Given the description of an element on the screen output the (x, y) to click on. 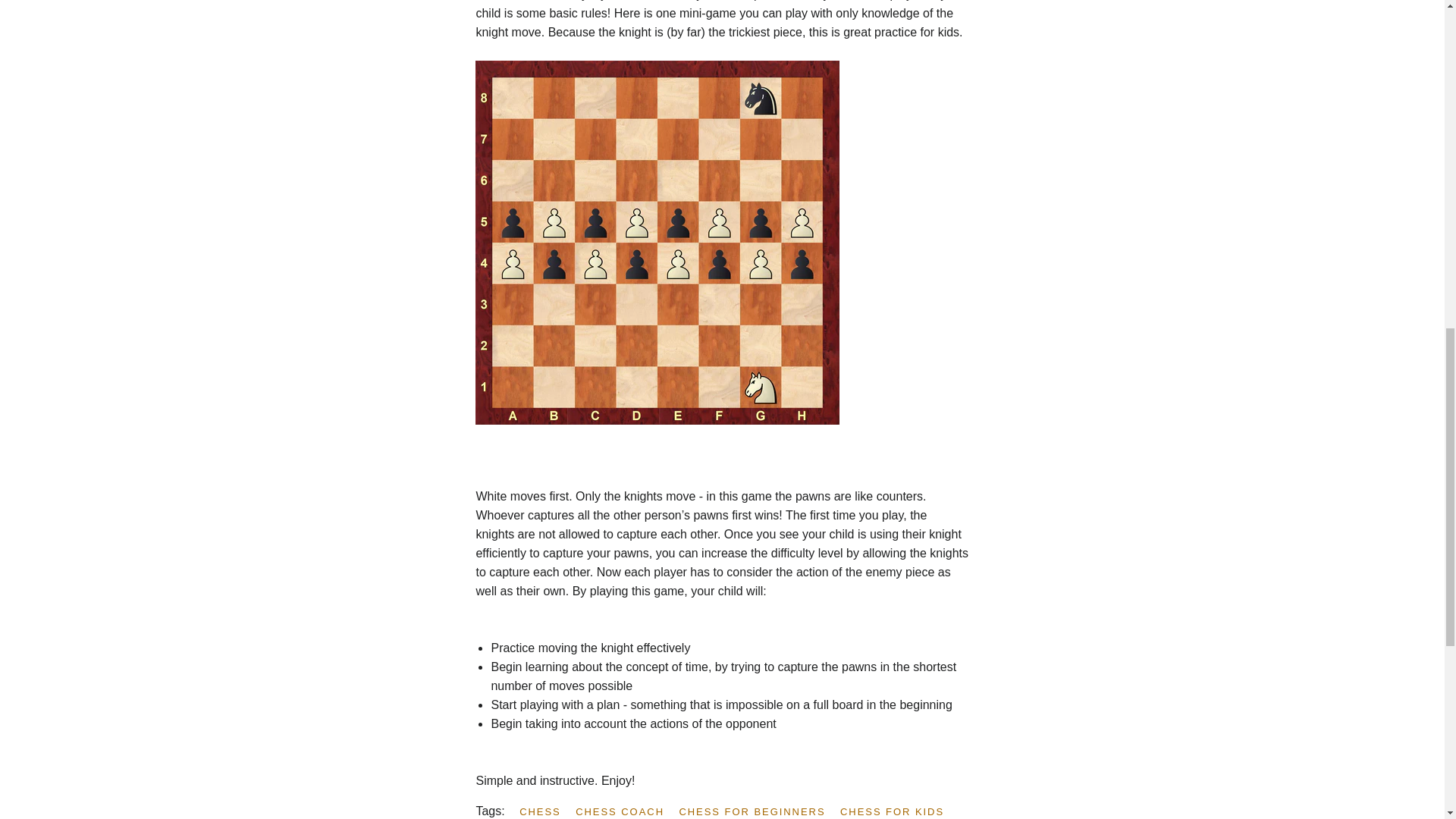
CHESS (545, 811)
CHESS FOR KIDS (897, 811)
CHESS COACH (625, 811)
CHESS FOR BEGINNERS (756, 811)
